Given the description of an element on the screen output the (x, y) to click on. 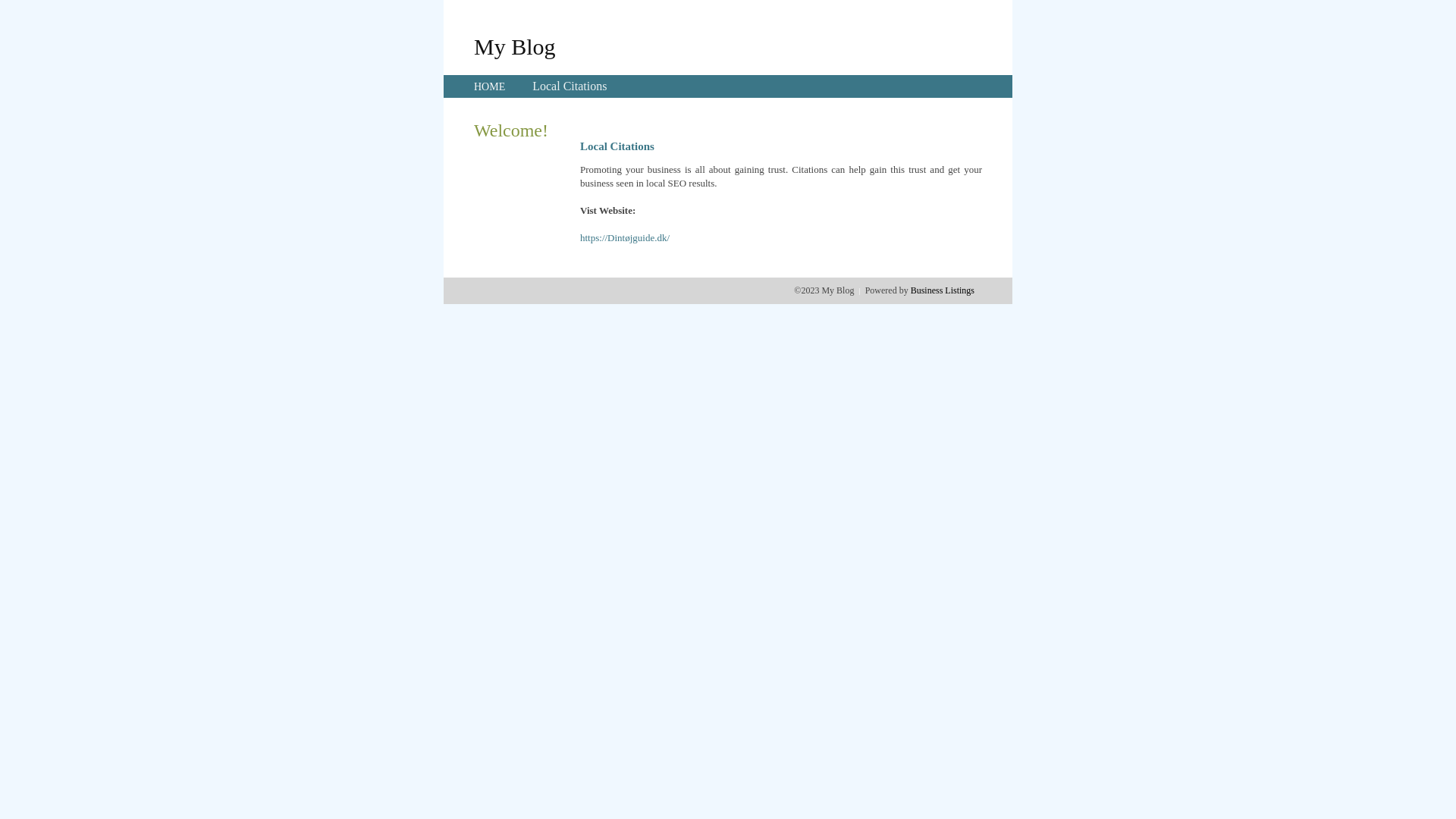
Local Citations Element type: text (569, 85)
HOME Element type: text (489, 86)
My Blog Element type: text (514, 46)
Business Listings Element type: text (942, 290)
